Given the description of an element on the screen output the (x, y) to click on. 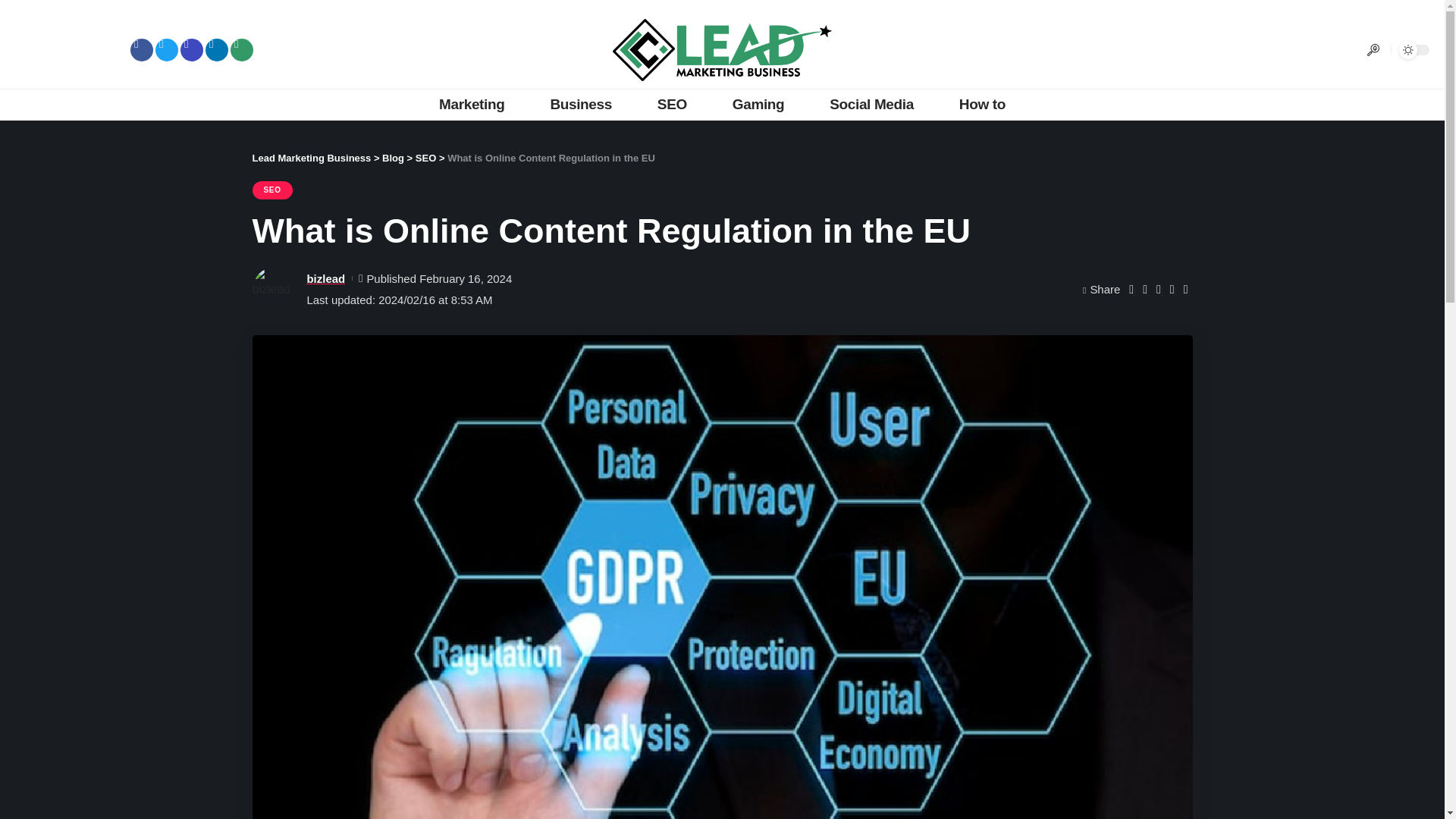
Marketing (471, 104)
Social Media (871, 104)
SEO (271, 189)
Go to Blog. (392, 157)
Business (580, 104)
Blog (392, 157)
How to (981, 104)
Go to Lead Marketing Business. (311, 157)
Lead Marketing Business (311, 157)
Go to the SEO Category archives. (424, 157)
SEO (672, 104)
SEO (424, 157)
Gaming (758, 104)
